Given the description of an element on the screen output the (x, y) to click on. 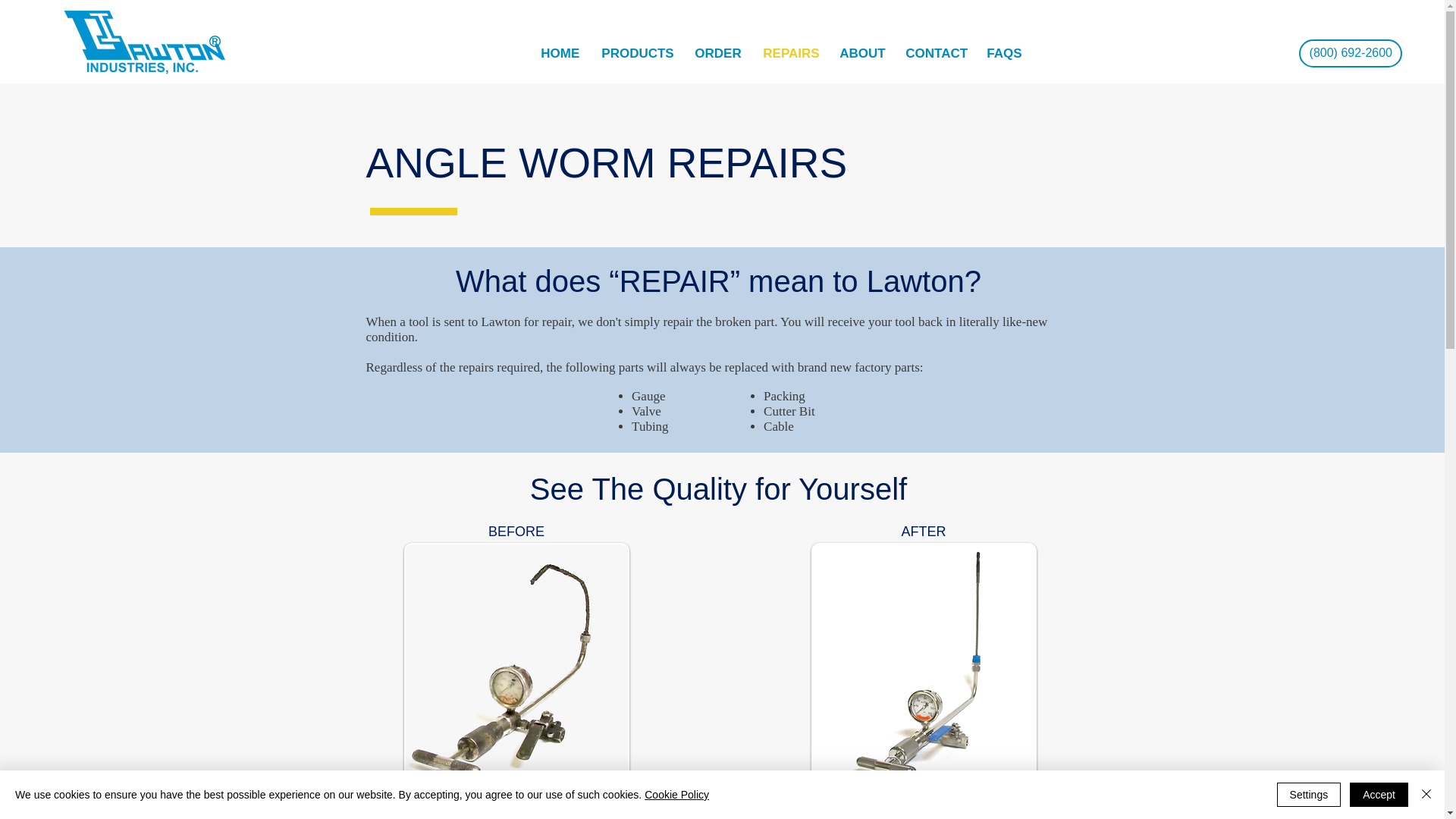
Settings (1308, 794)
PRODUCTS (635, 53)
CONTACT (934, 53)
Accept (1378, 794)
REPAIRS (789, 53)
Cookie Policy (677, 794)
ORDER (716, 53)
HOME (559, 53)
